Given the description of an element on the screen output the (x, y) to click on. 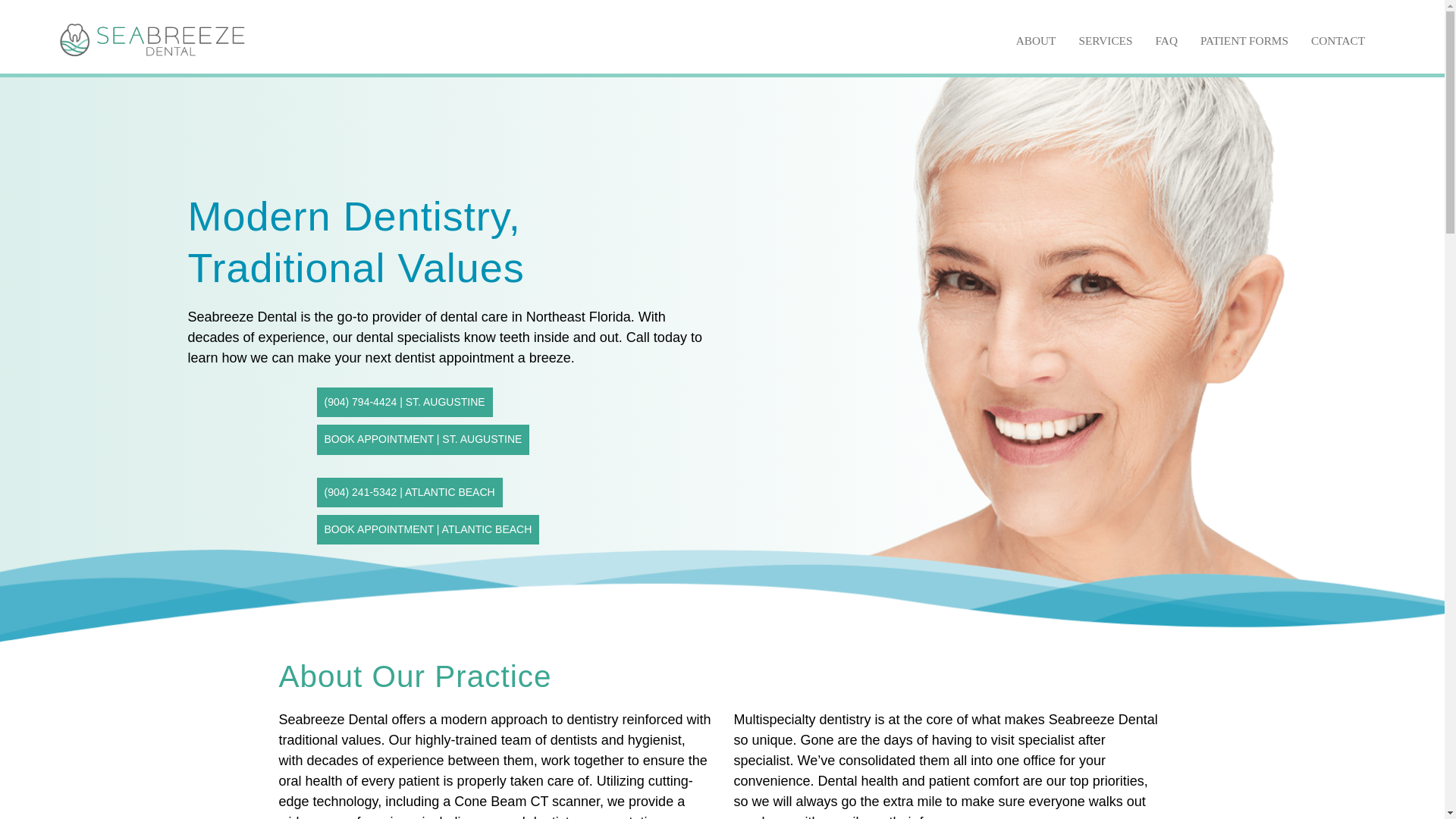
ABOUT (1035, 40)
SERVICES (1104, 40)
PATIENT FORMS (1244, 40)
SeaBreeze Dental (151, 35)
CONTACT (1337, 40)
FAQ (1165, 40)
